Given the description of an element on the screen output the (x, y) to click on. 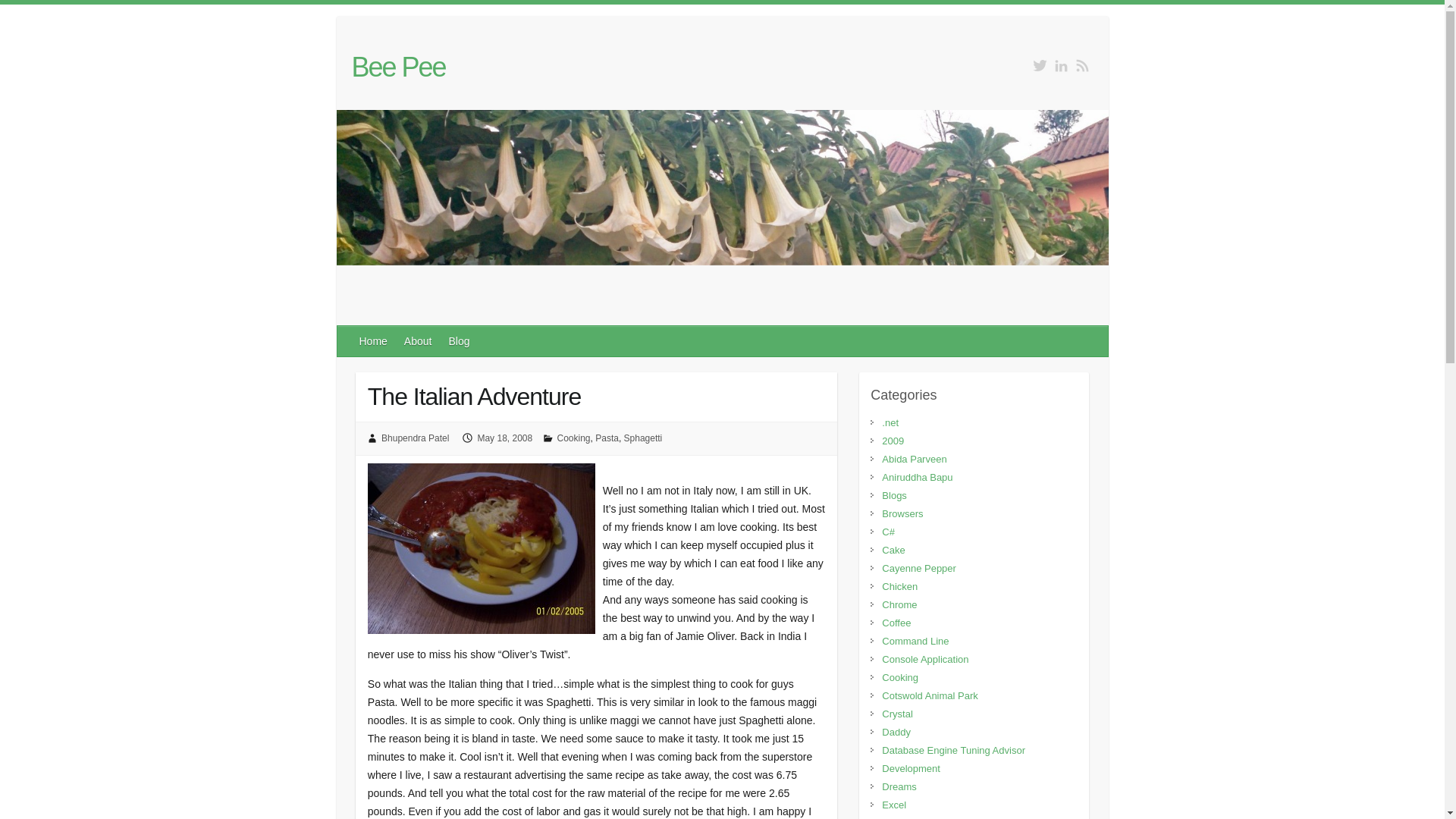
Dreams (899, 786)
Bhupendra Patel (414, 438)
About (418, 340)
Cooking (900, 677)
Cake (893, 550)
Development (911, 767)
Bee Pee (398, 67)
Abida Parveen (914, 459)
Chicken (899, 586)
Sphagetti (643, 438)
